Given the description of an element on the screen output the (x, y) to click on. 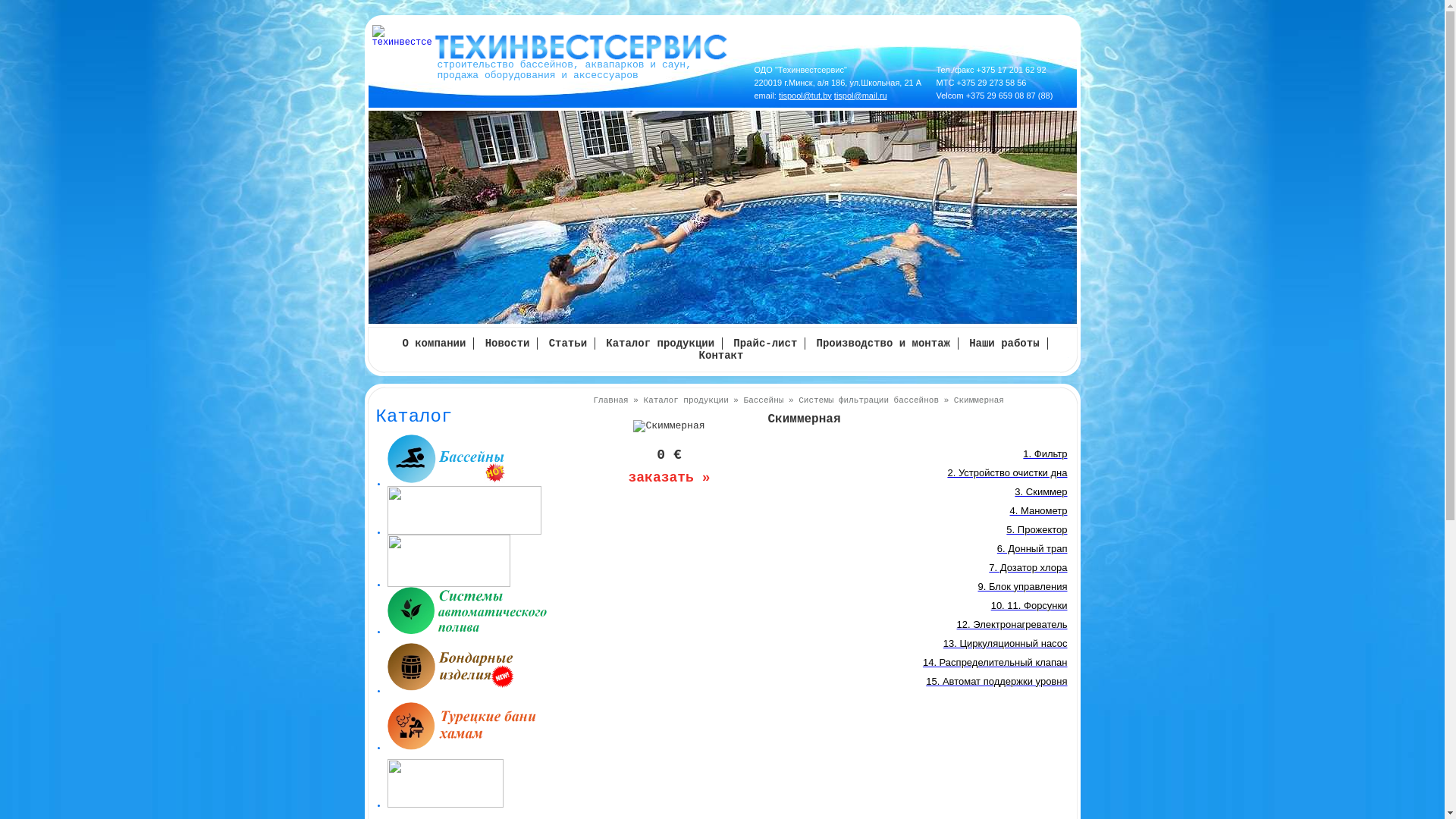
  Element type: text (483, 730)
  Element type: text (483, 787)
tispool@tut.by Element type: text (804, 95)
  Element type: text (483, 614)
  Element type: text (483, 672)
tispol@mail.ru Element type: text (860, 95)
